Given the description of an element on the screen output the (x, y) to click on. 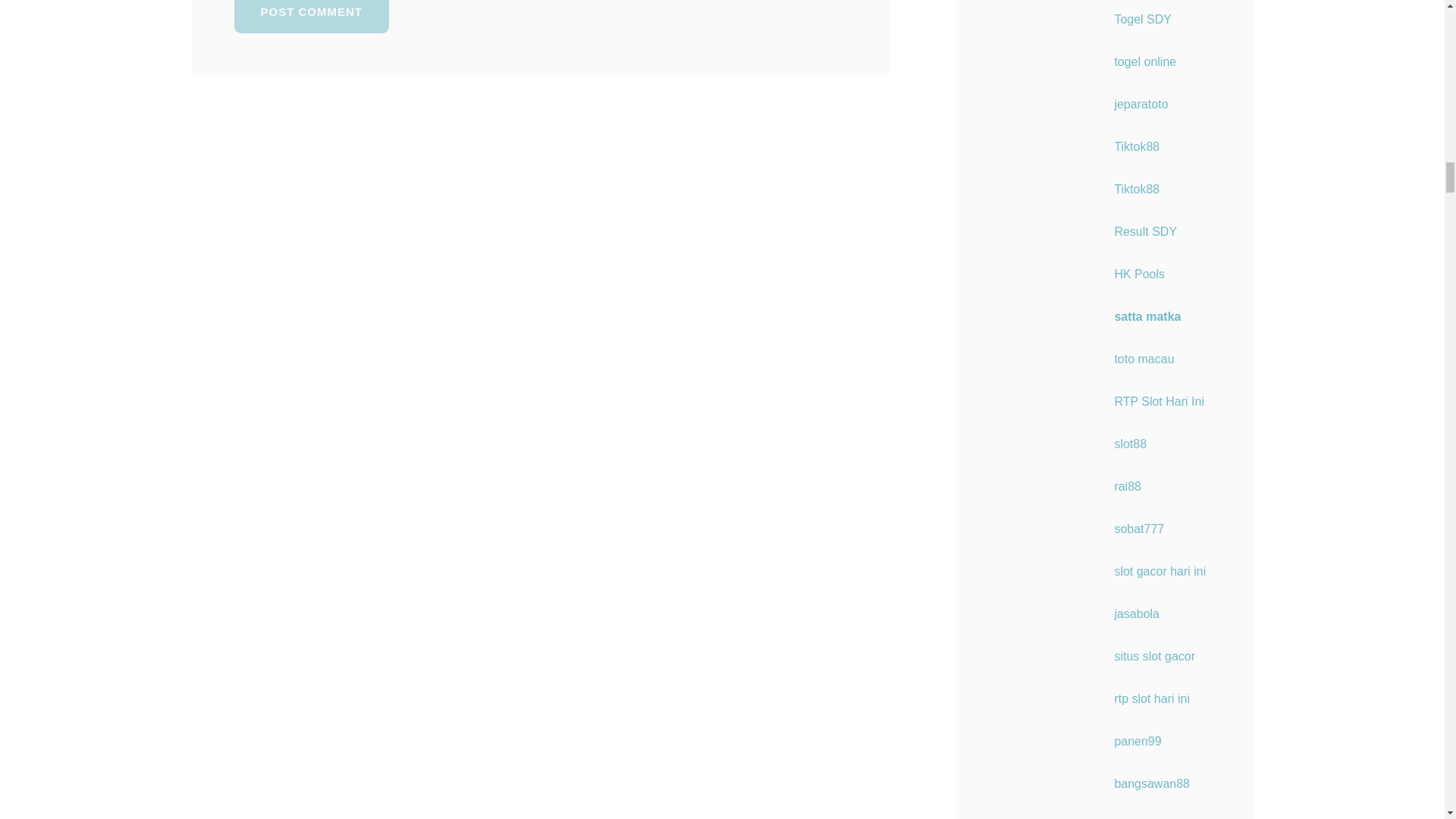
Post Comment (310, 16)
Post Comment (310, 16)
